Given the description of an element on the screen output the (x, y) to click on. 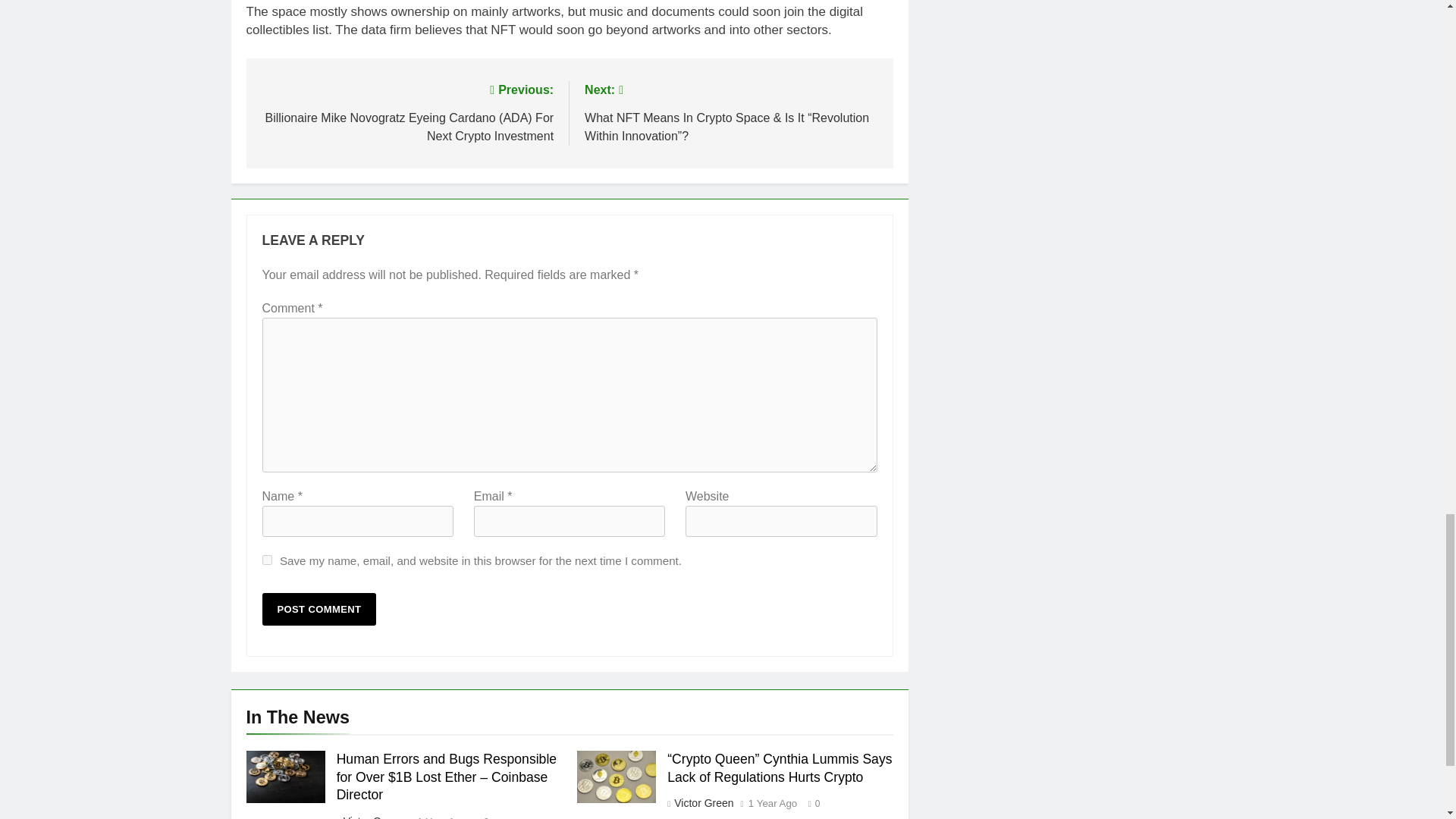
yes (267, 560)
Post Comment (319, 608)
